Given the description of an element on the screen output the (x, y) to click on. 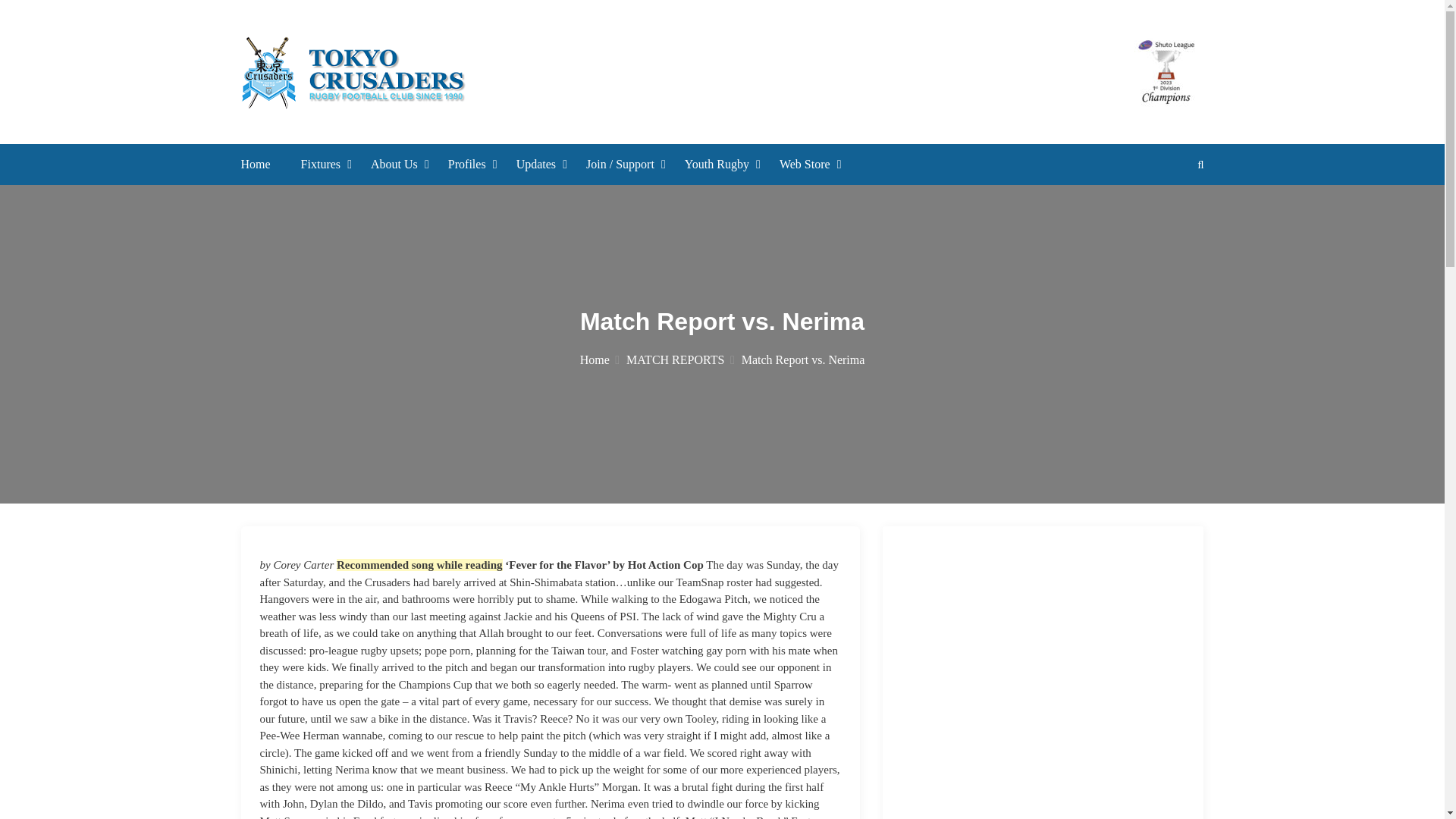
Updates (536, 164)
Home (255, 164)
About Us (394, 164)
Tokyo Crusaders Rugby Football Club (654, 131)
Fixtures (320, 164)
Profiles (467, 164)
